Given the description of an element on the screen output the (x, y) to click on. 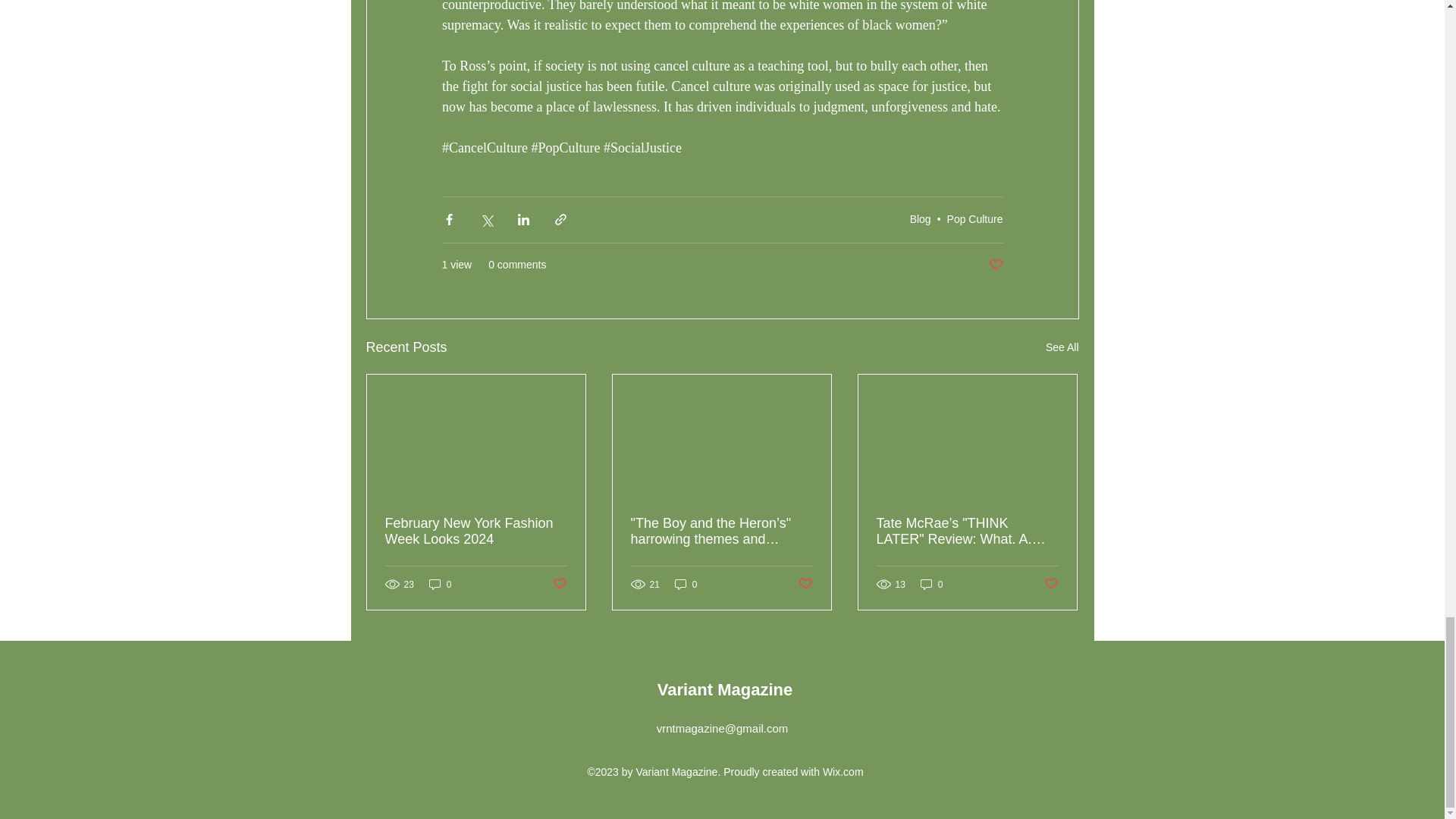
Pop Culture (975, 218)
Blog (920, 218)
